Given the description of an element on the screen output the (x, y) to click on. 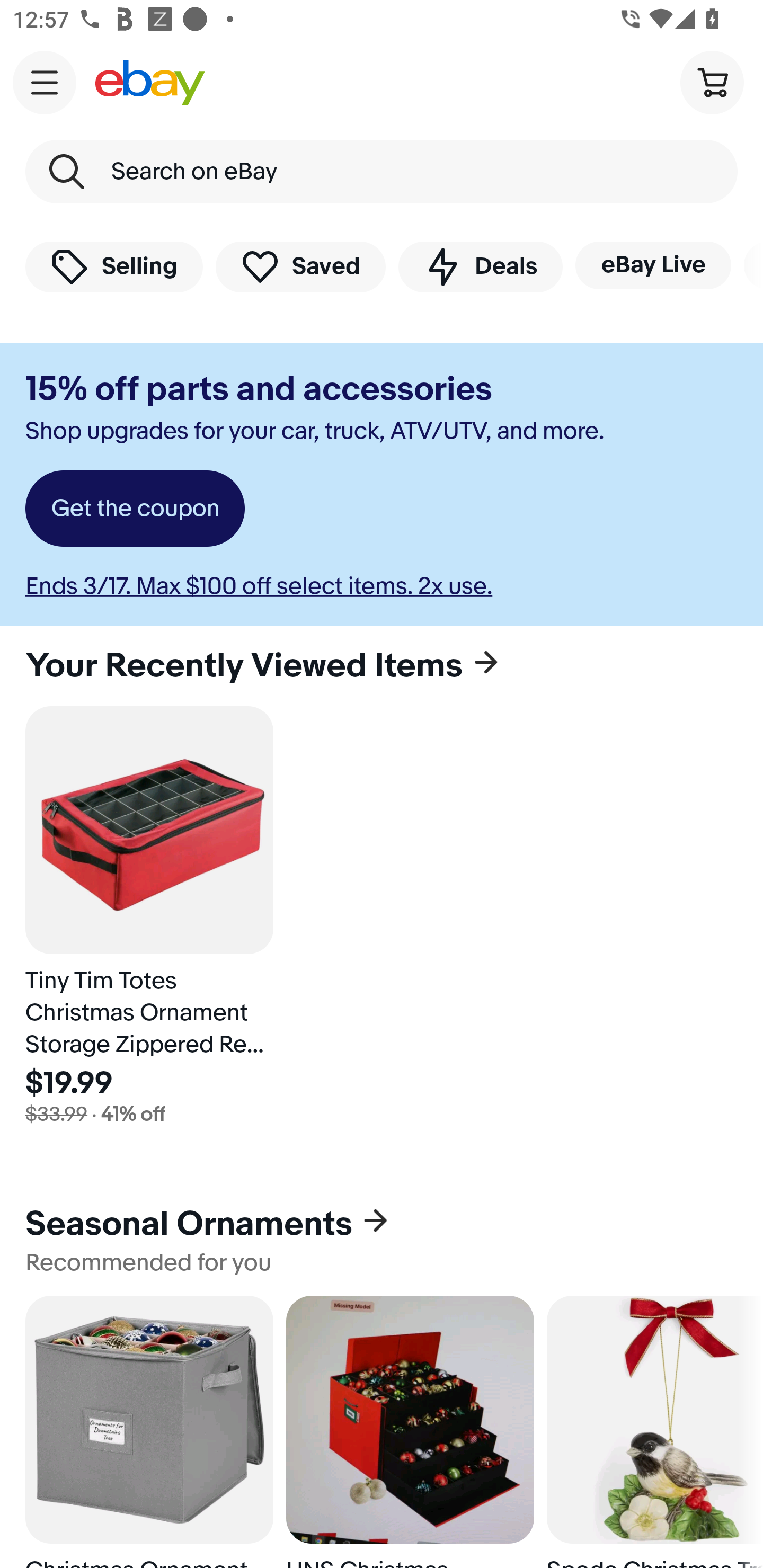
Main navigation, open (44, 82)
Cart button shopping cart (711, 81)
Search on eBay Search Keyword Search on eBay (381, 171)
Selling (113, 266)
Saved (300, 266)
Deals (480, 266)
eBay Live (652, 264)
15% off parts and accessories (258, 389)
Get the coupon (134, 508)
Ends 3/17. Max $100 off select items. 2x use. (258, 586)
Your Recently Viewed Items   (381, 665)
Seasonal Ornaments   Recommended for you (381, 1239)
